Given the description of an element on the screen output the (x, y) to click on. 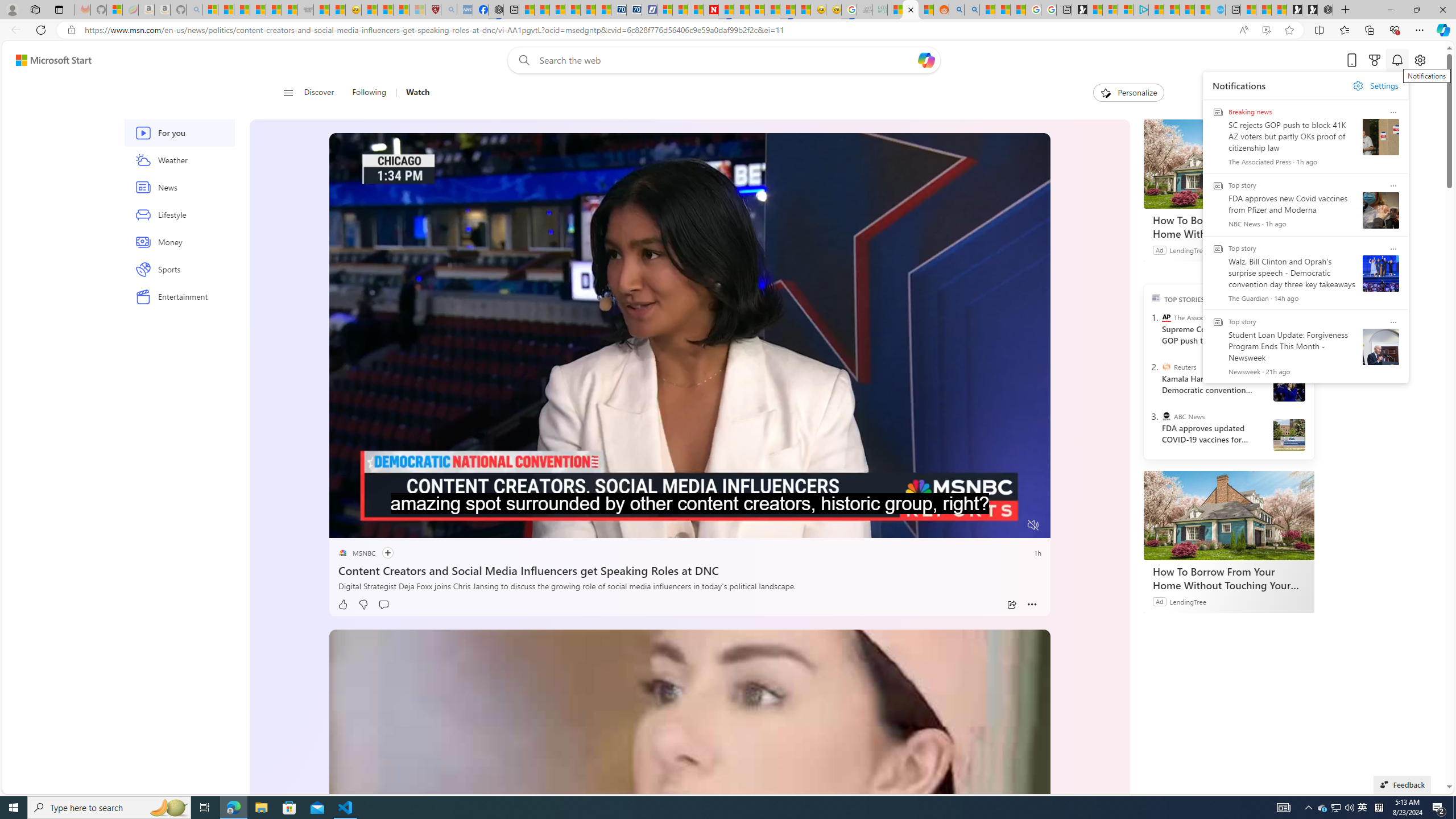
Progress Bar (689, 510)
DITOGAMES AG Imprint - Sleeping (879, 9)
The Associated Press (1165, 316)
Combat Siege (305, 9)
Utah sues federal government - Search (971, 9)
New Report Confirms 2023 Was Record Hot | Watch (273, 9)
